Given the description of an element on the screen output the (x, y) to click on. 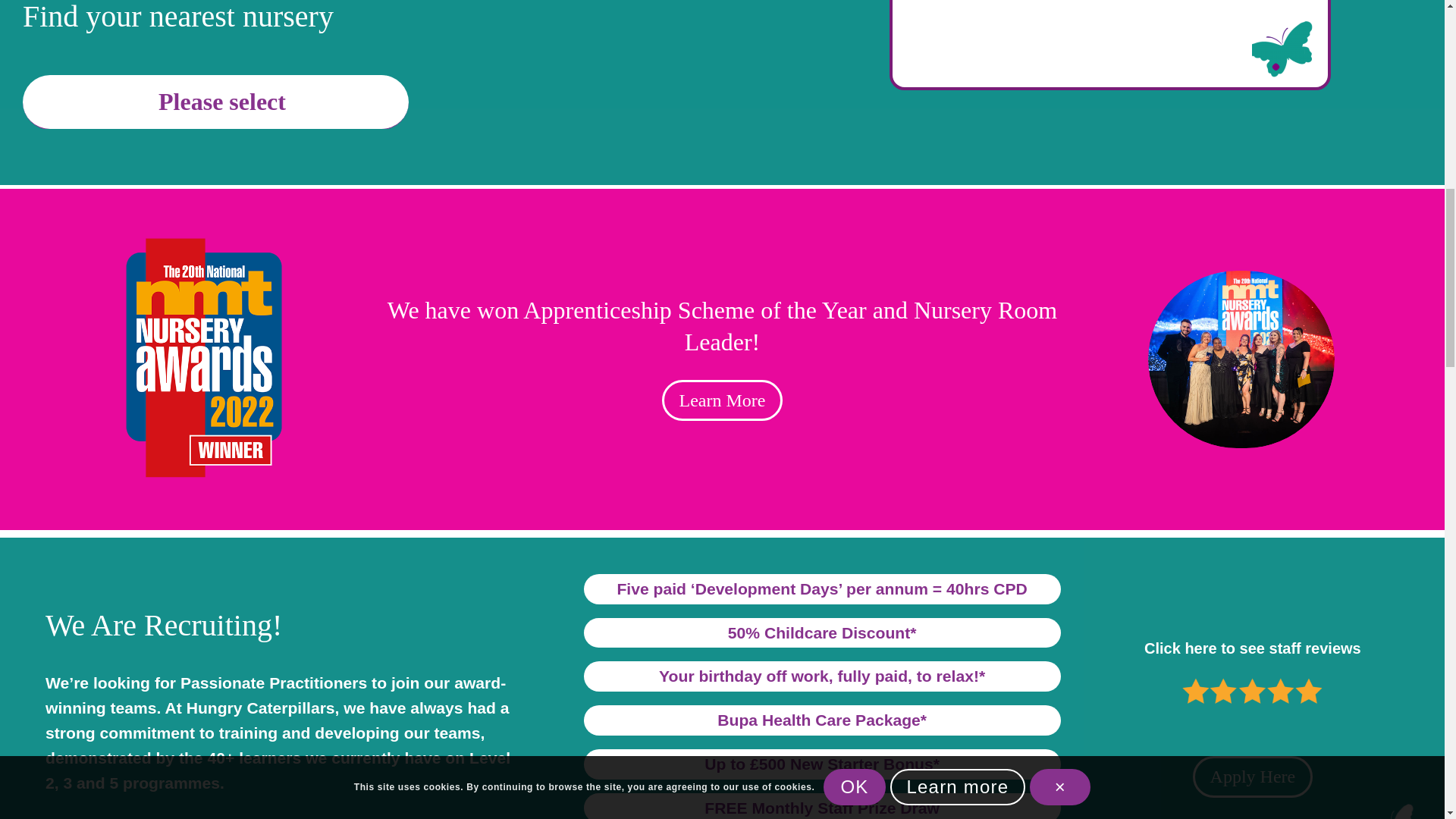
Apprenticeship-Scheme-of-the-Year-2022 (1240, 359)
cropped-favicon.png (1282, 48)
